Given the description of an element on the screen output the (x, y) to click on. 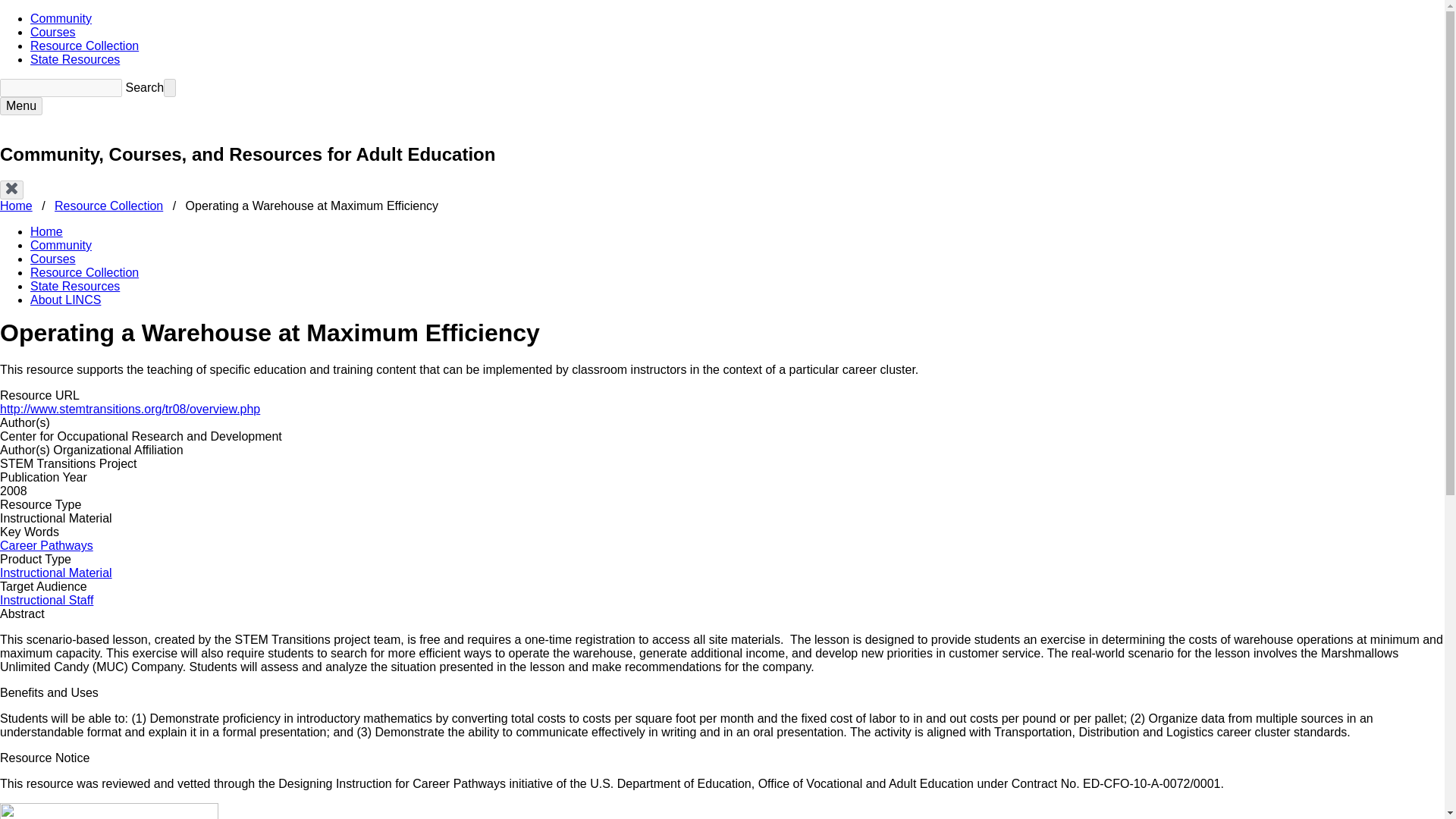
Resource Collection (84, 45)
Menu (21, 106)
Enter the terms you wish to search for. (61, 87)
Community (60, 18)
State Resources (74, 59)
Courses (52, 31)
